Given the description of an element on the screen output the (x, y) to click on. 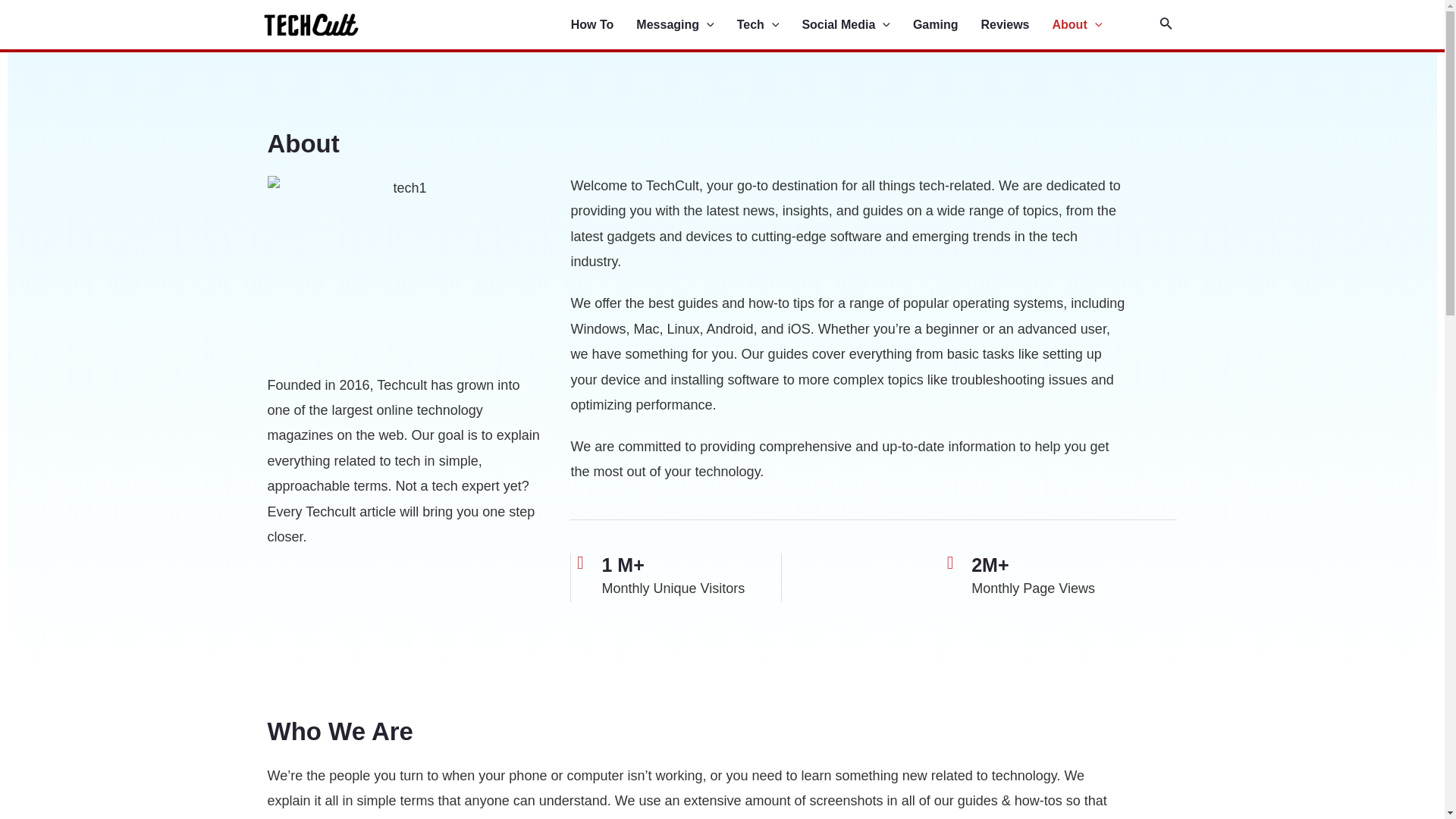
Tech (769, 25)
Messaging (686, 25)
Gaming (946, 25)
Reviews (1015, 25)
Social Media (857, 25)
How To (603, 25)
About (1088, 25)
